Given the description of an element on the screen output the (x, y) to click on. 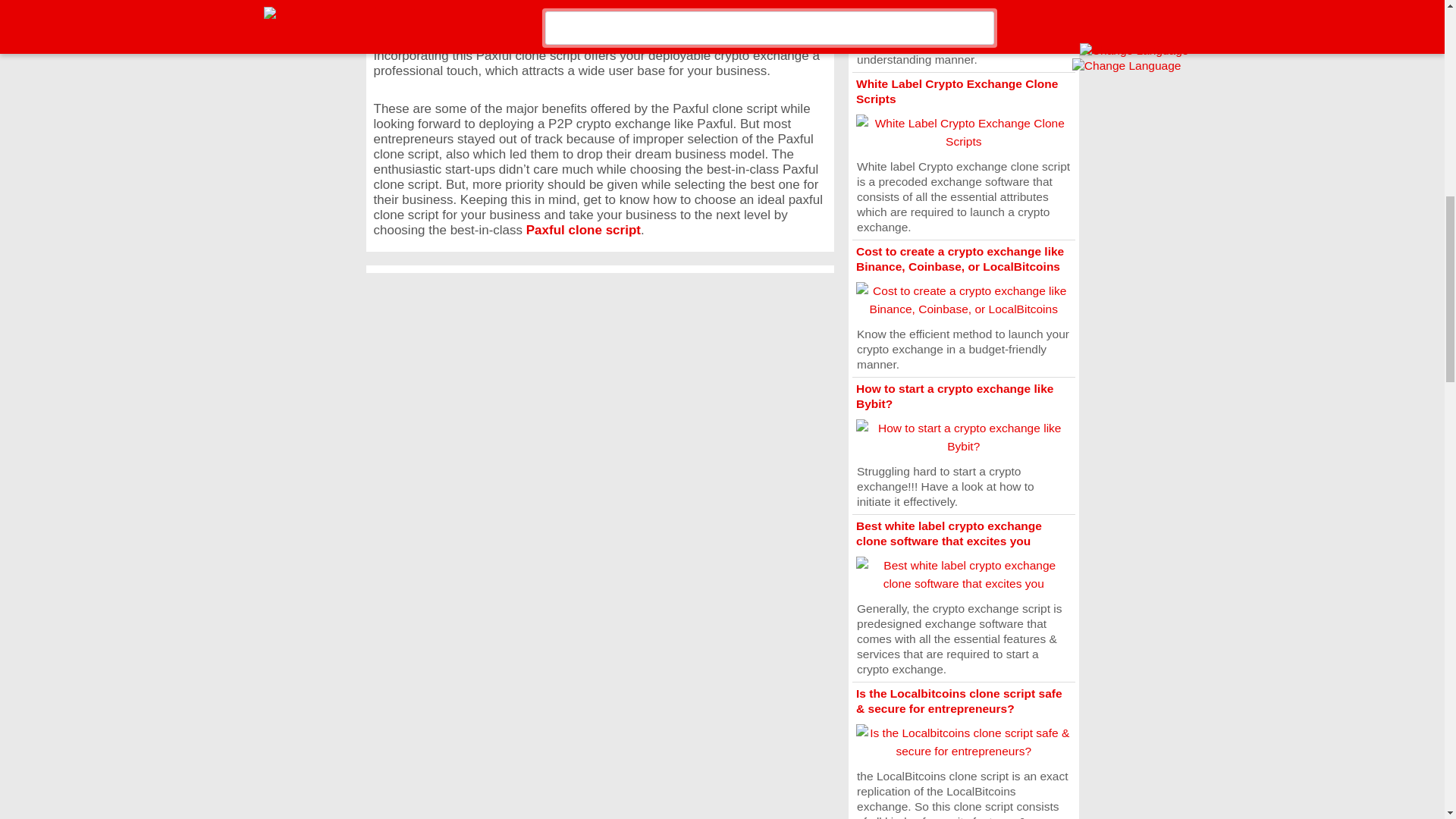
Paxful clone script (582, 229)
How to start a crypto exchange like Bybit? (954, 396)
White Label Crypto Exchange Clone Scripts (957, 90)
